Given the description of an element on the screen output the (x, y) to click on. 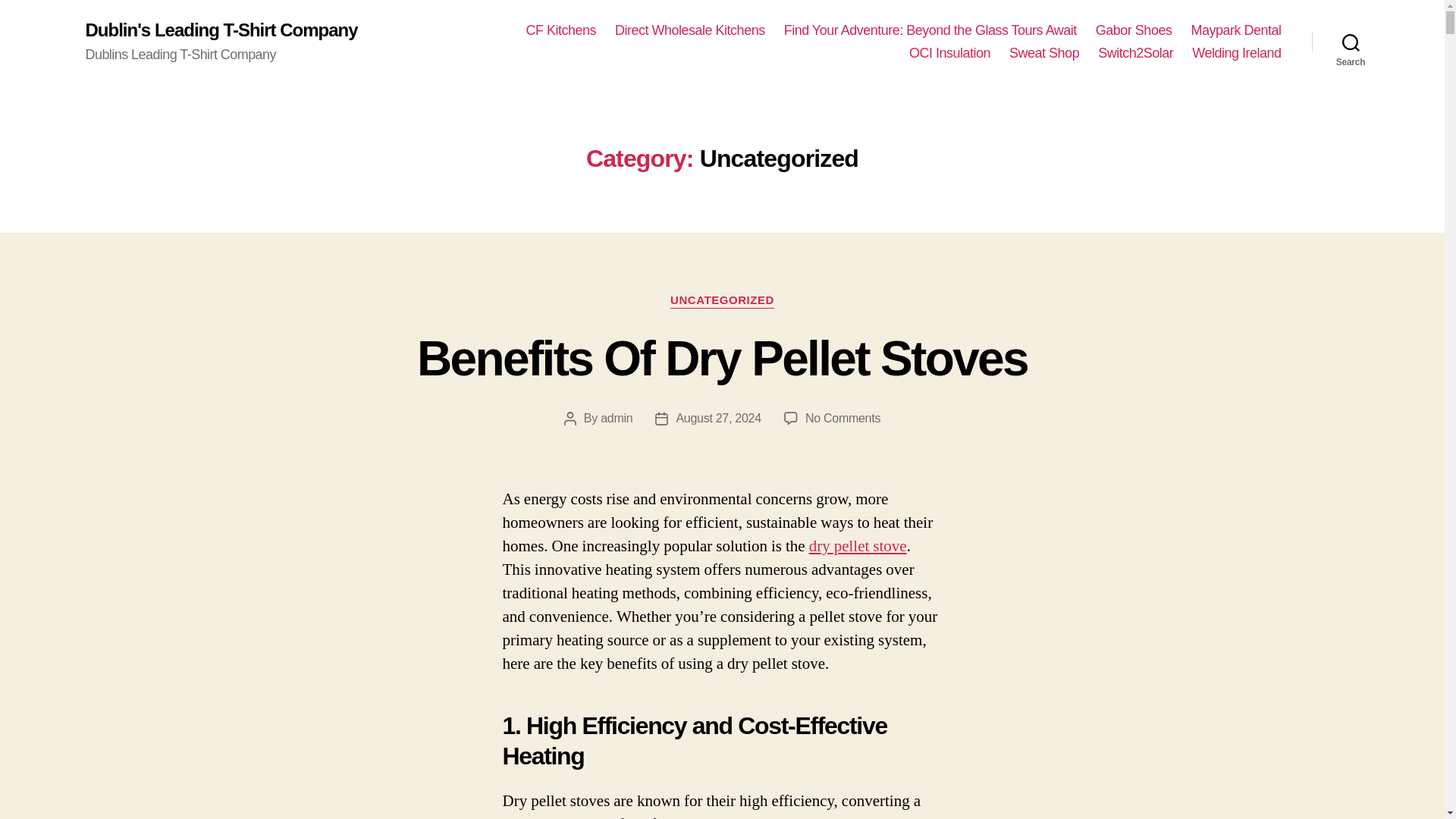
admin (615, 418)
Benefits Of Dry Pellet Stoves (721, 358)
UNCATEGORIZED (721, 300)
Switch2Solar (1135, 53)
Direct Wholesale Kitchens (842, 418)
Sweat Shop (689, 30)
OCI Insulation (1043, 53)
Dublin's Leading T-Shirt Company (949, 53)
dry pellet stove (220, 30)
